Given the description of an element on the screen output the (x, y) to click on. 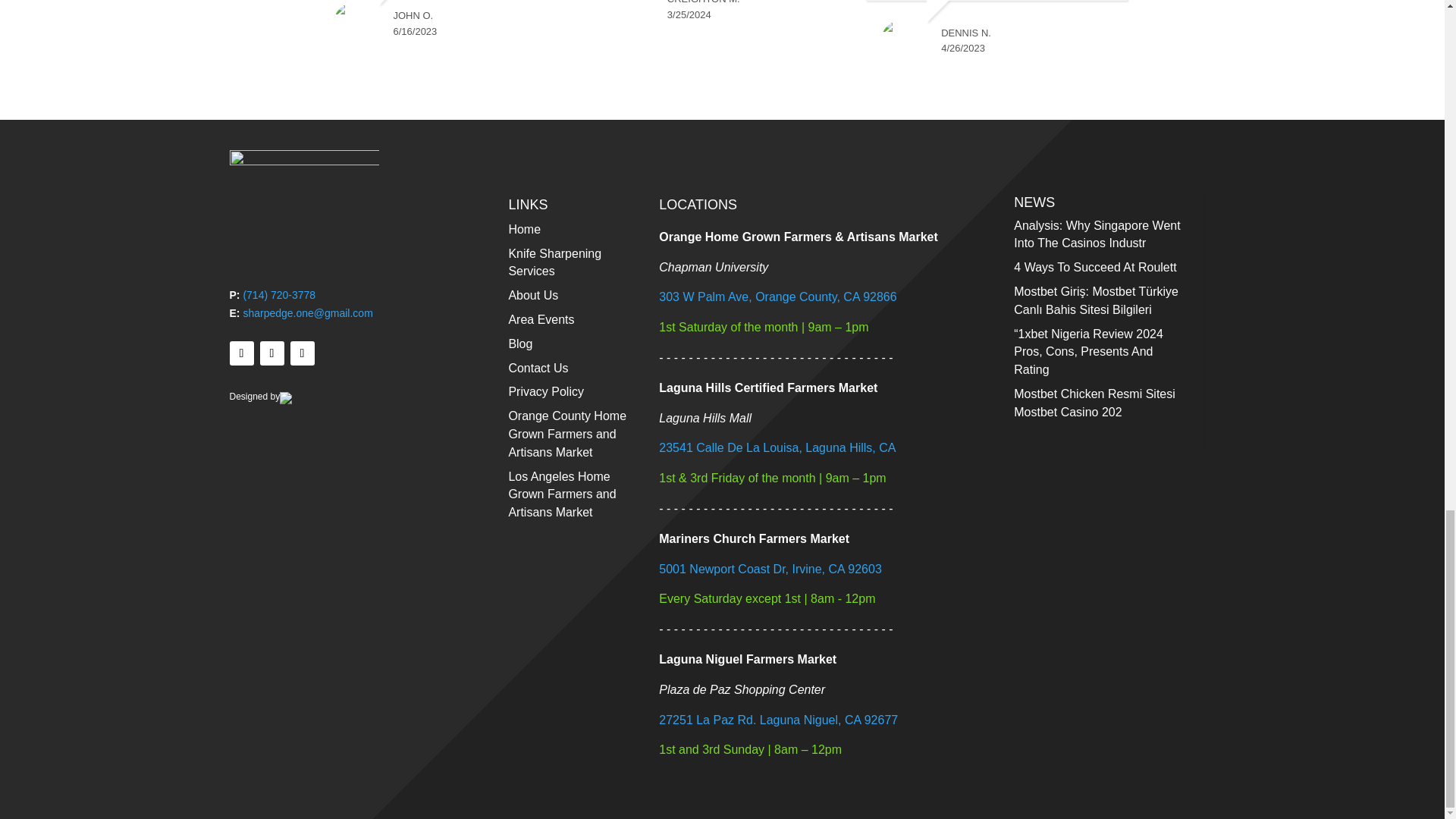
Orange County Home Grown Farmers and Artisans Market (567, 433)
Blog (520, 343)
4 Ways To Succeed At Roulett (1094, 267)
5001 Newport Coast Dr, Irvine, CA 92603 (770, 568)
Mostbet Chicken Resmi Sitesi Mostbet Casino 202 (1093, 402)
Knife Sharpening Services (554, 262)
Follow on Instagram (271, 353)
Contact Us (537, 367)
Los Angeles Home Grown Farmers and Artisans Market (561, 494)
Area Events (540, 318)
